Given the description of an element on the screen output the (x, y) to click on. 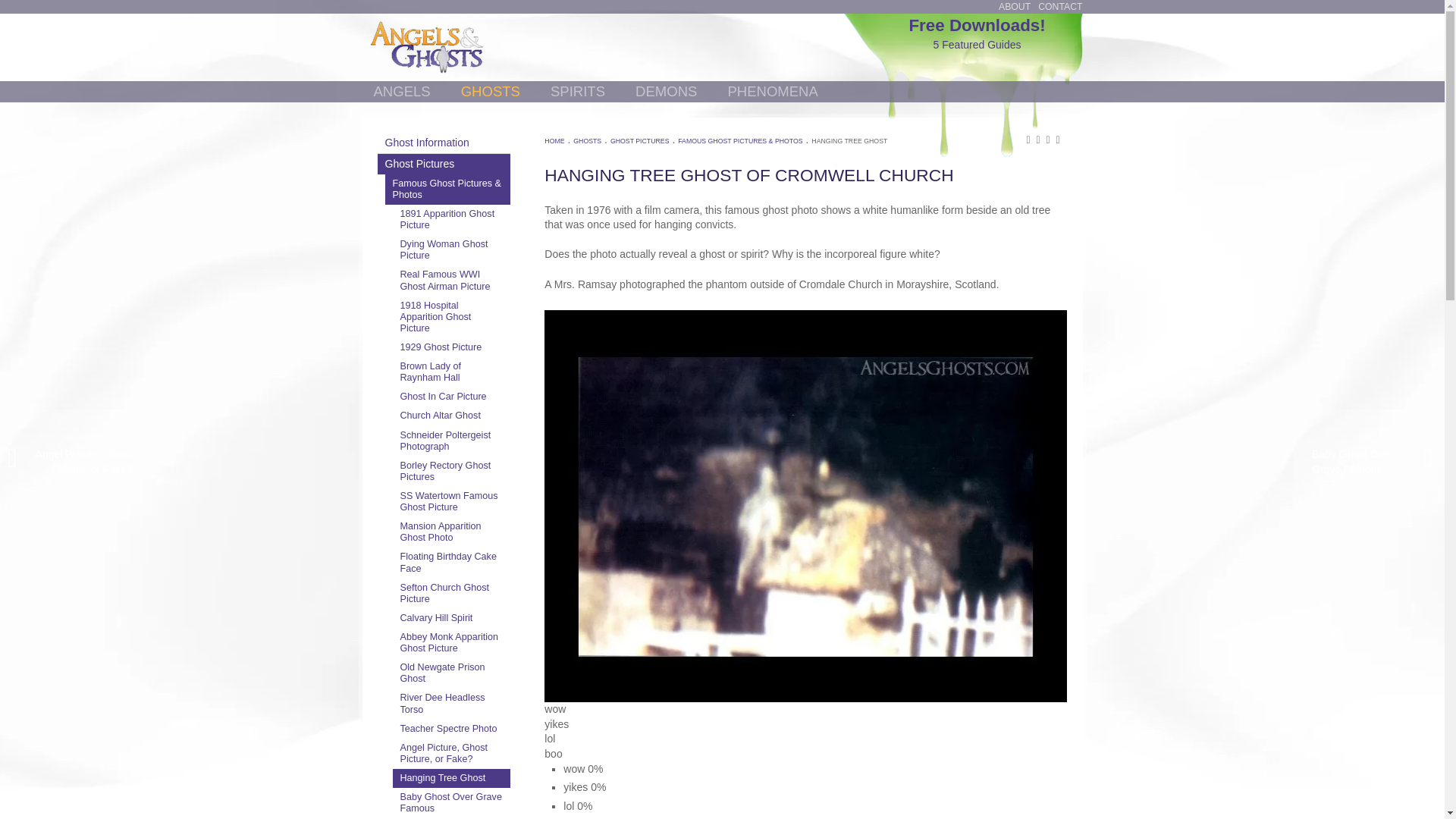
Ghost Information (444, 142)
1918 Hospital Apparition Ghost Picture (452, 317)
Mansion Apparition Ghost Photo (452, 531)
Brown Lady of Raynham Hall (452, 372)
GHOSTS (489, 91)
River Dee Headless Torso (452, 703)
Floating Birthday Cake Face (452, 562)
CONTACT (1059, 6)
Sefton Church Ghost Picture (452, 593)
Ghost In Car Picture (452, 396)
